Given the description of an element on the screen output the (x, y) to click on. 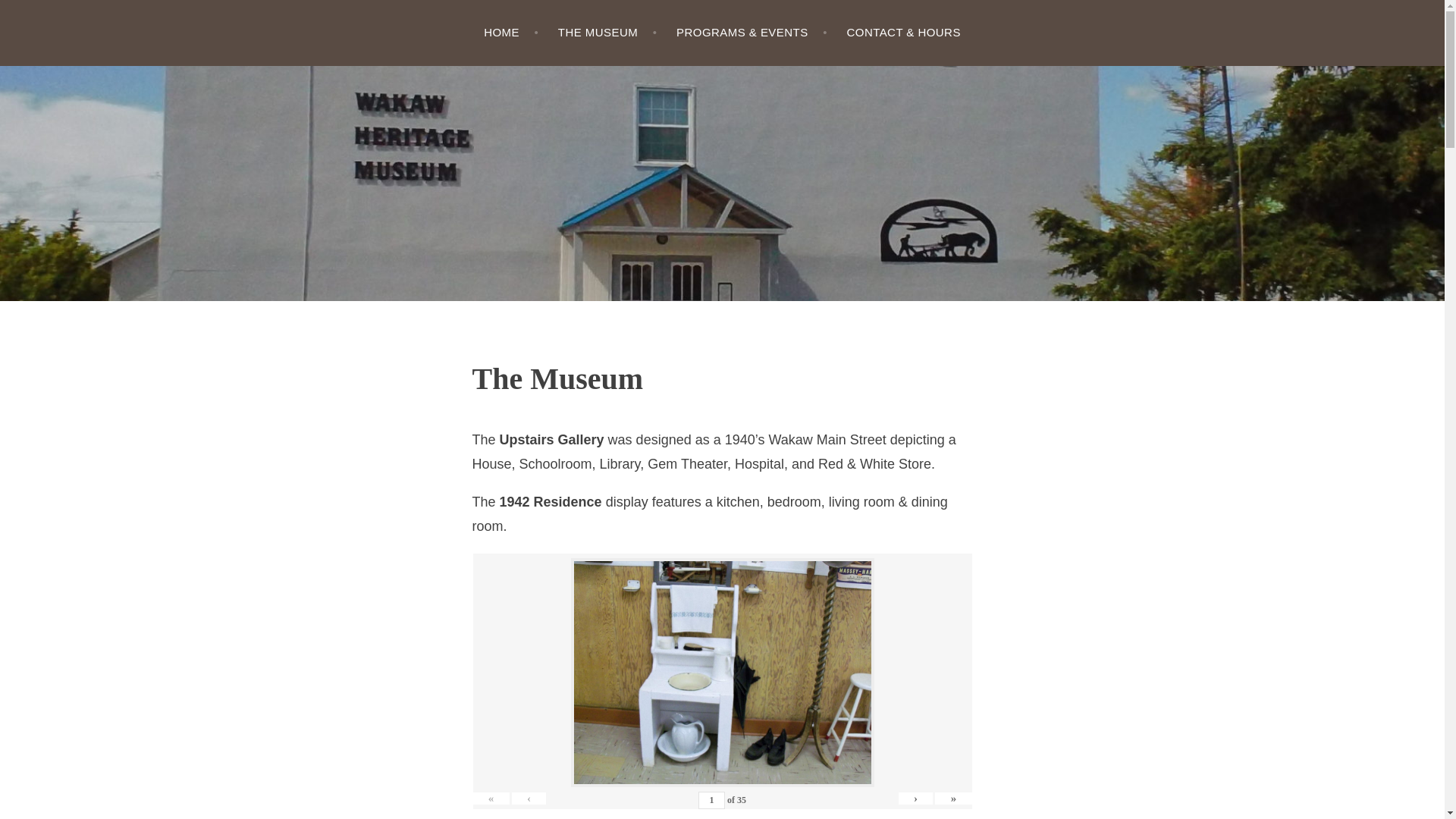
Go to the previous page (529, 798)
Go to the last page (952, 798)
WAKAW HERITAGE MUSEUM (238, 156)
THE MUSEUM (607, 32)
100 0581 (721, 672)
Go to the first page (491, 798)
Go to the next page (915, 798)
HOME (510, 32)
1 (711, 800)
